Given the description of an element on the screen output the (x, y) to click on. 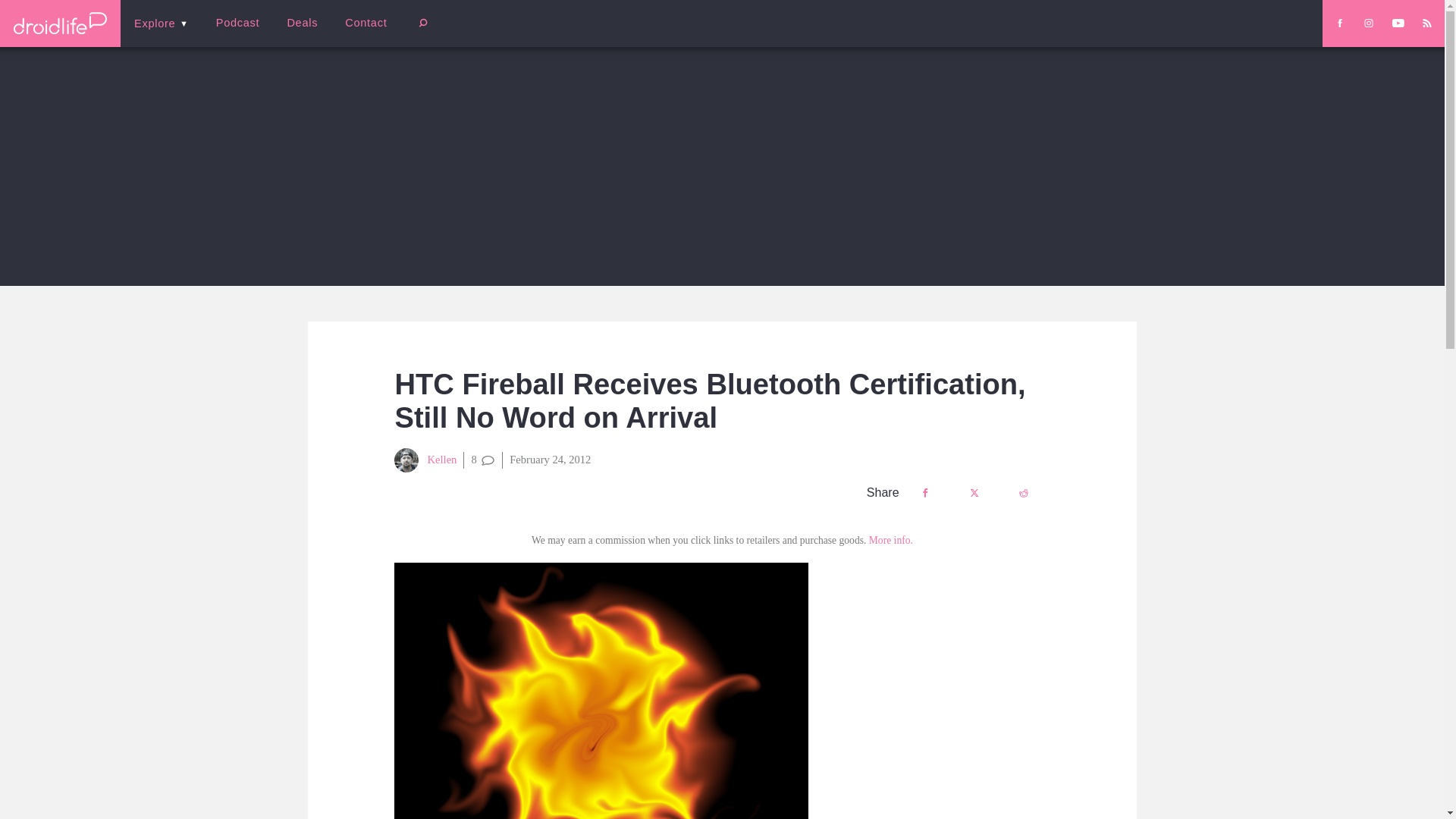
Deals (302, 23)
Droid Life on Instagram (1368, 23)
Contact (365, 23)
Kellen (425, 459)
Droid Life on Facebook (1339, 23)
Droid Life RSS (1426, 23)
htc fireball (601, 690)
Beginners' Guide (360, 33)
Droid Life on YouTube (1398, 23)
Podcast (237, 23)
